Given the description of an element on the screen output the (x, y) to click on. 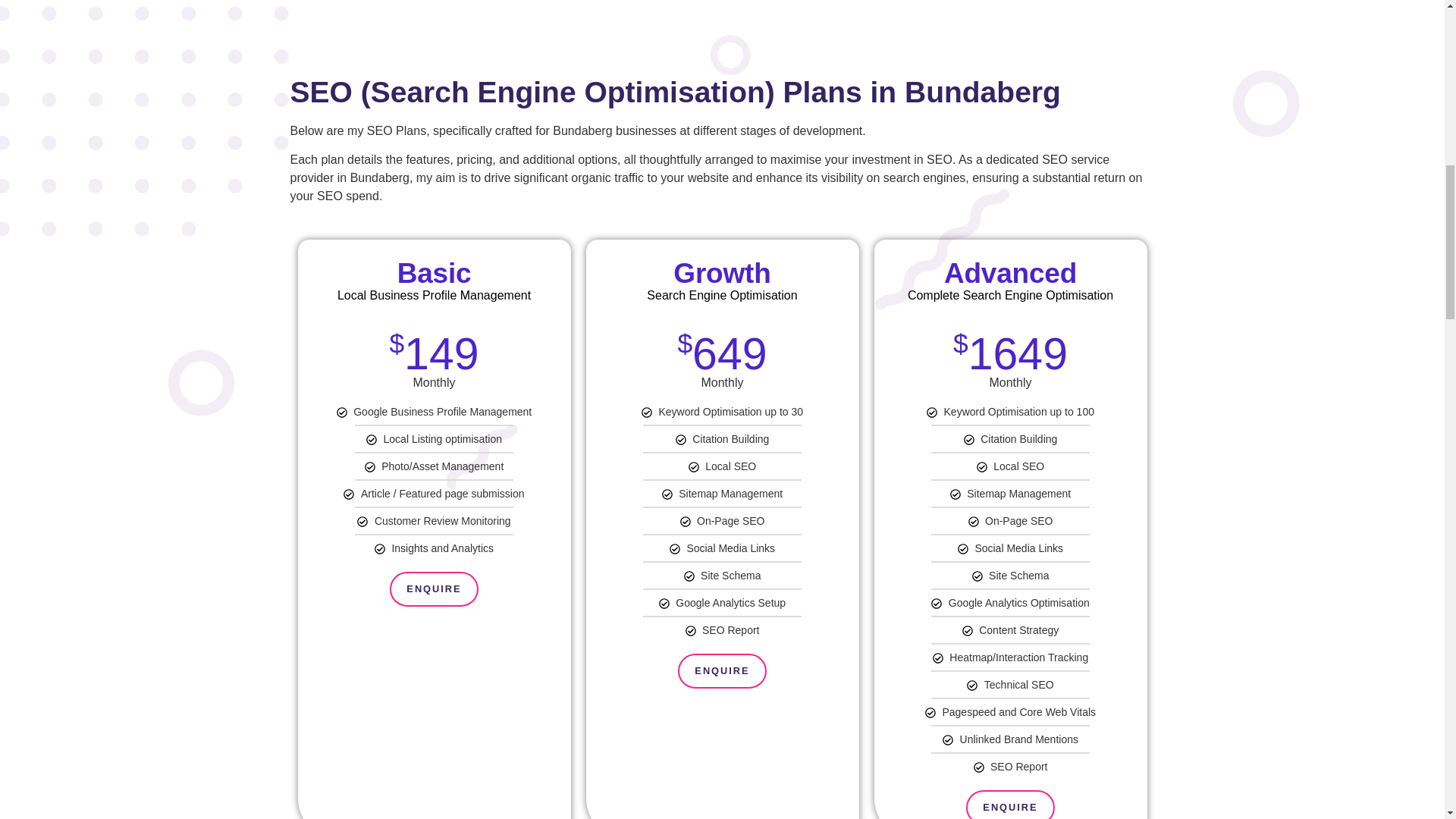
ENQUIRE (433, 588)
ENQUIRE (1010, 804)
ENQUIRE (721, 670)
